Given the description of an element on the screen output the (x, y) to click on. 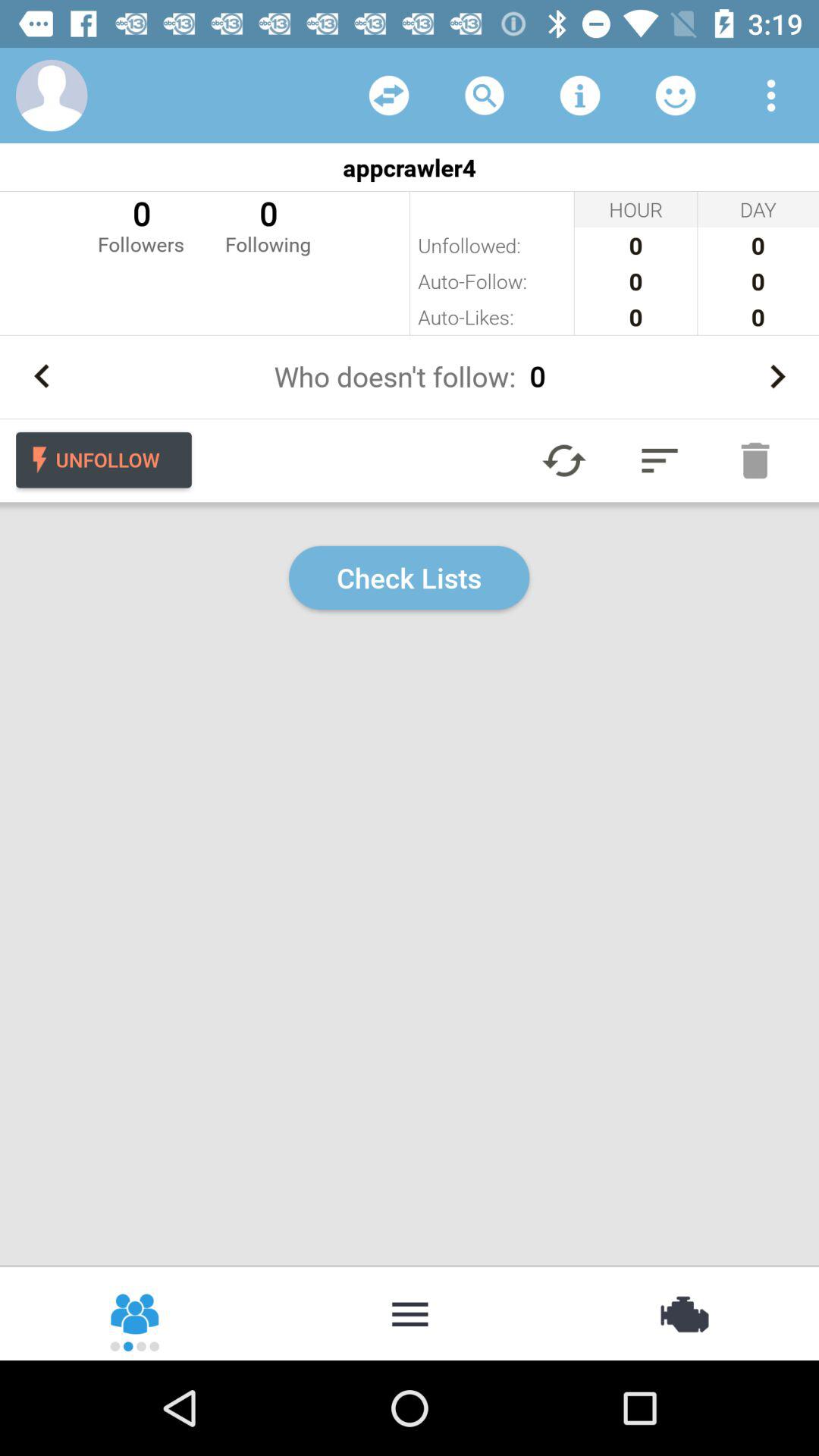
select the emoji icon (675, 95)
